Given the description of an element on the screen output the (x, y) to click on. 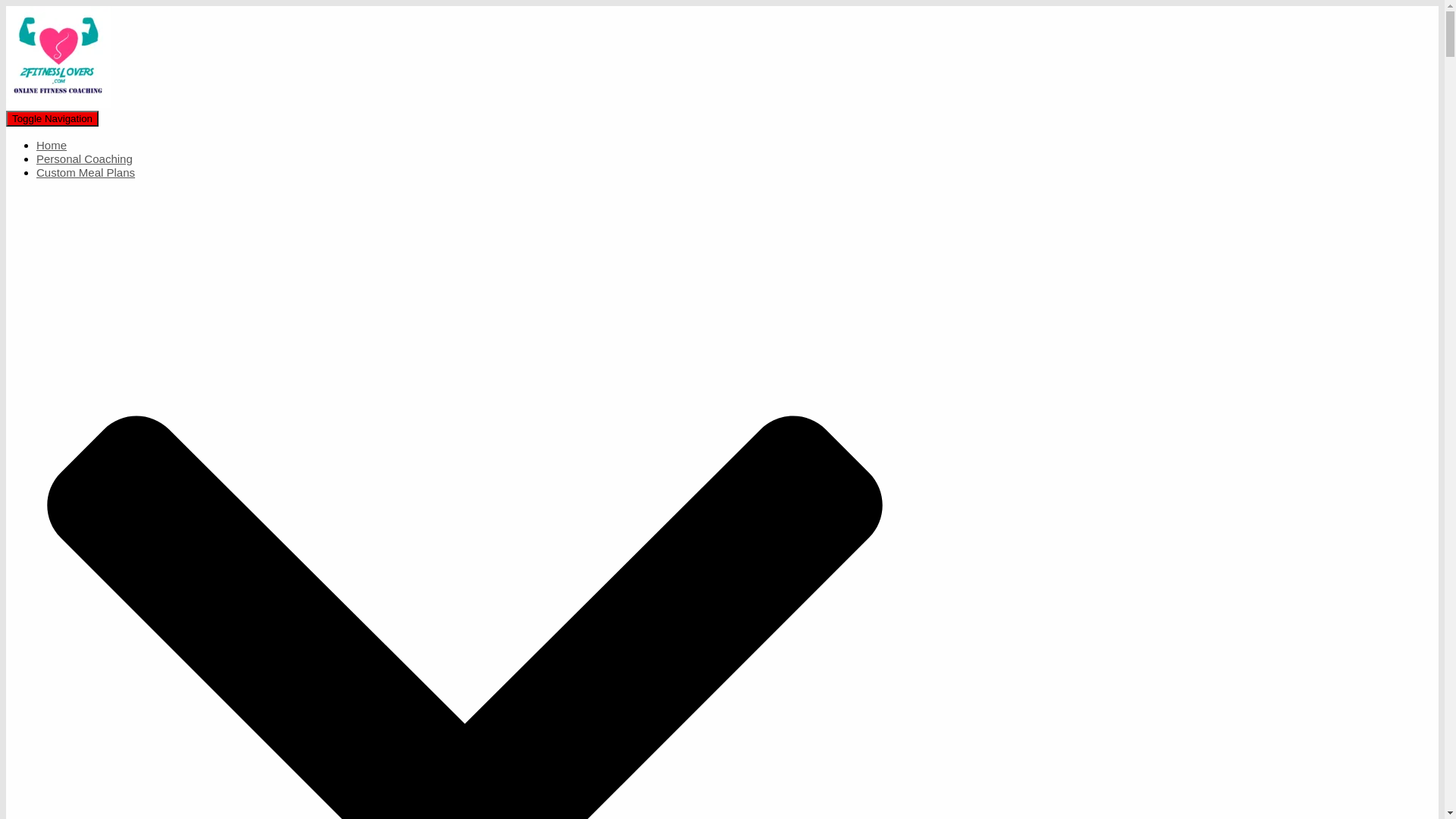
2FitnessLovers Element type: hover (58, 103)
Toggle Navigation Element type: text (52, 118)
Home Element type: text (51, 144)
Personal Coaching Element type: text (84, 158)
